Given the description of an element on the screen output the (x, y) to click on. 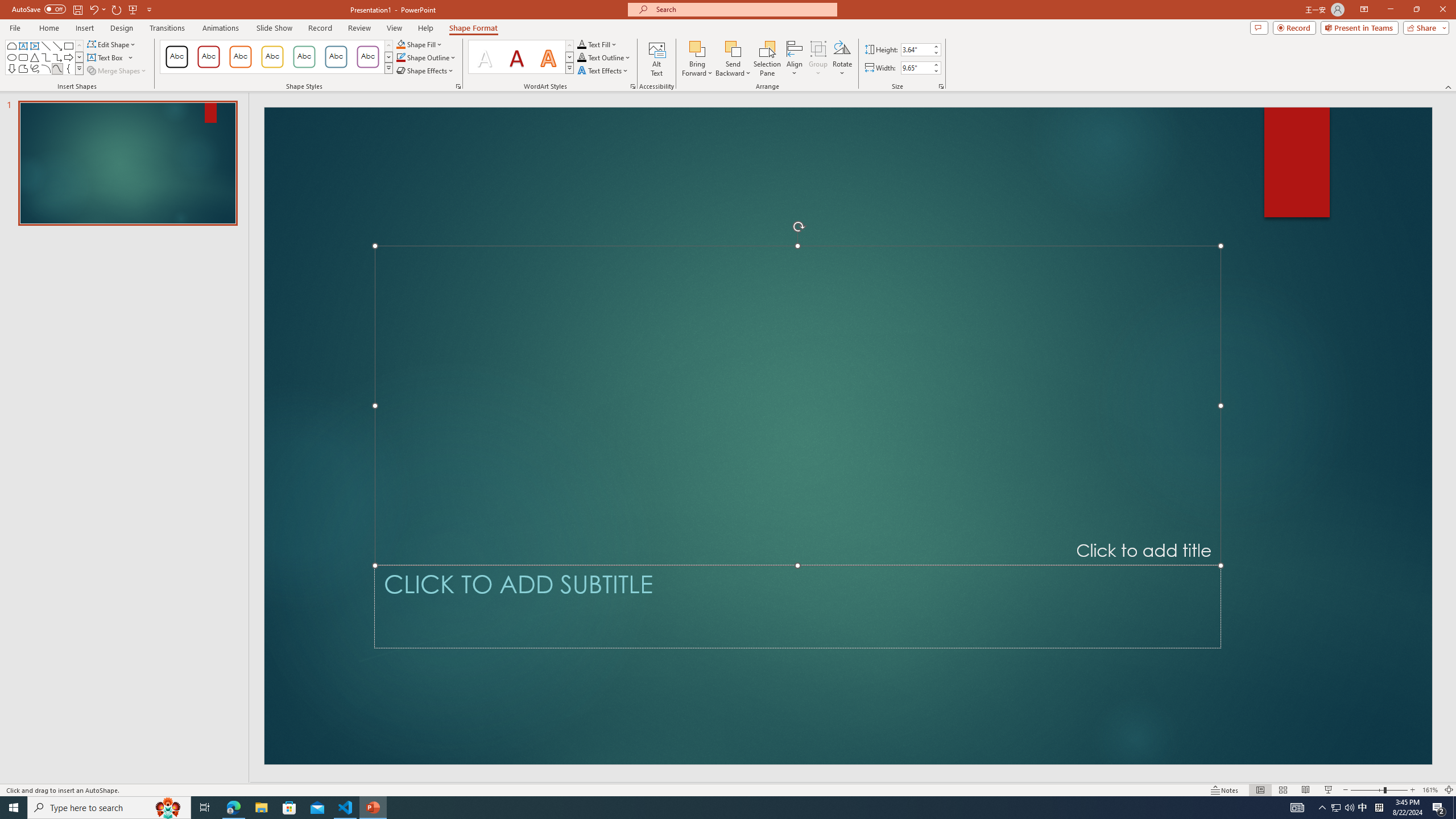
Selection Pane... (767, 58)
Arc (46, 68)
System (6, 6)
Restore Down (1416, 9)
Rotate (841, 58)
Rectangle: Top Corners Snipped (11, 45)
Save (77, 9)
Fill: White, Text color 1; Shadow (484, 56)
Text Outline (604, 56)
Freeform: Scribble (34, 68)
Oval (11, 57)
Colored Outline - Dark Red, Accent 1 (208, 56)
Minimize (1390, 9)
Text Effects (603, 69)
